Given the description of an element on the screen output the (x, y) to click on. 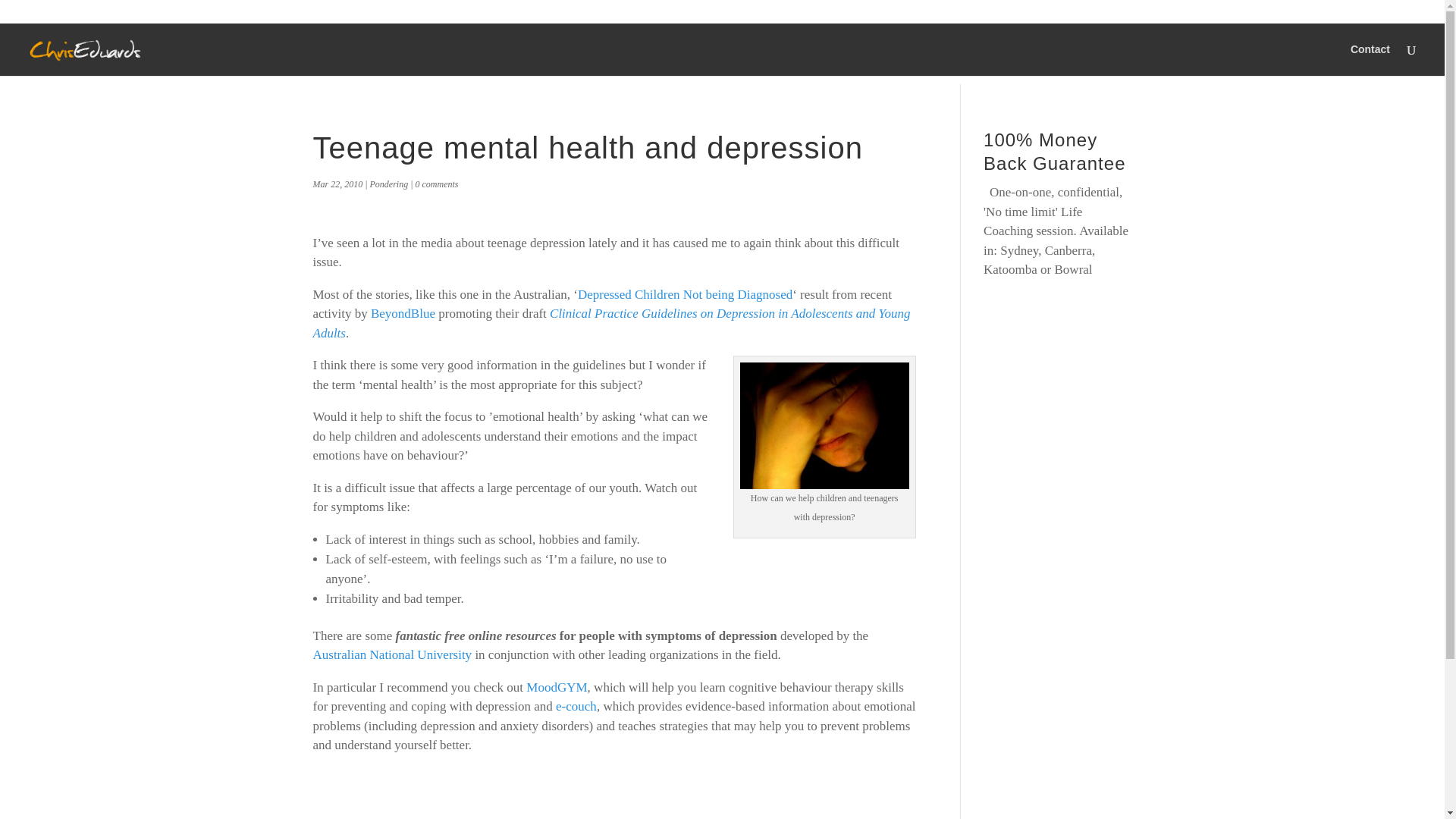
Pondering (388, 184)
Australian National University (392, 654)
e-couch (576, 706)
MoodGYM (555, 686)
Depressed Children Not being Diagnosed (685, 293)
0 comments (436, 184)
Contact (1370, 60)
worry (823, 425)
BeyondBlue (403, 313)
